Given the description of an element on the screen output the (x, y) to click on. 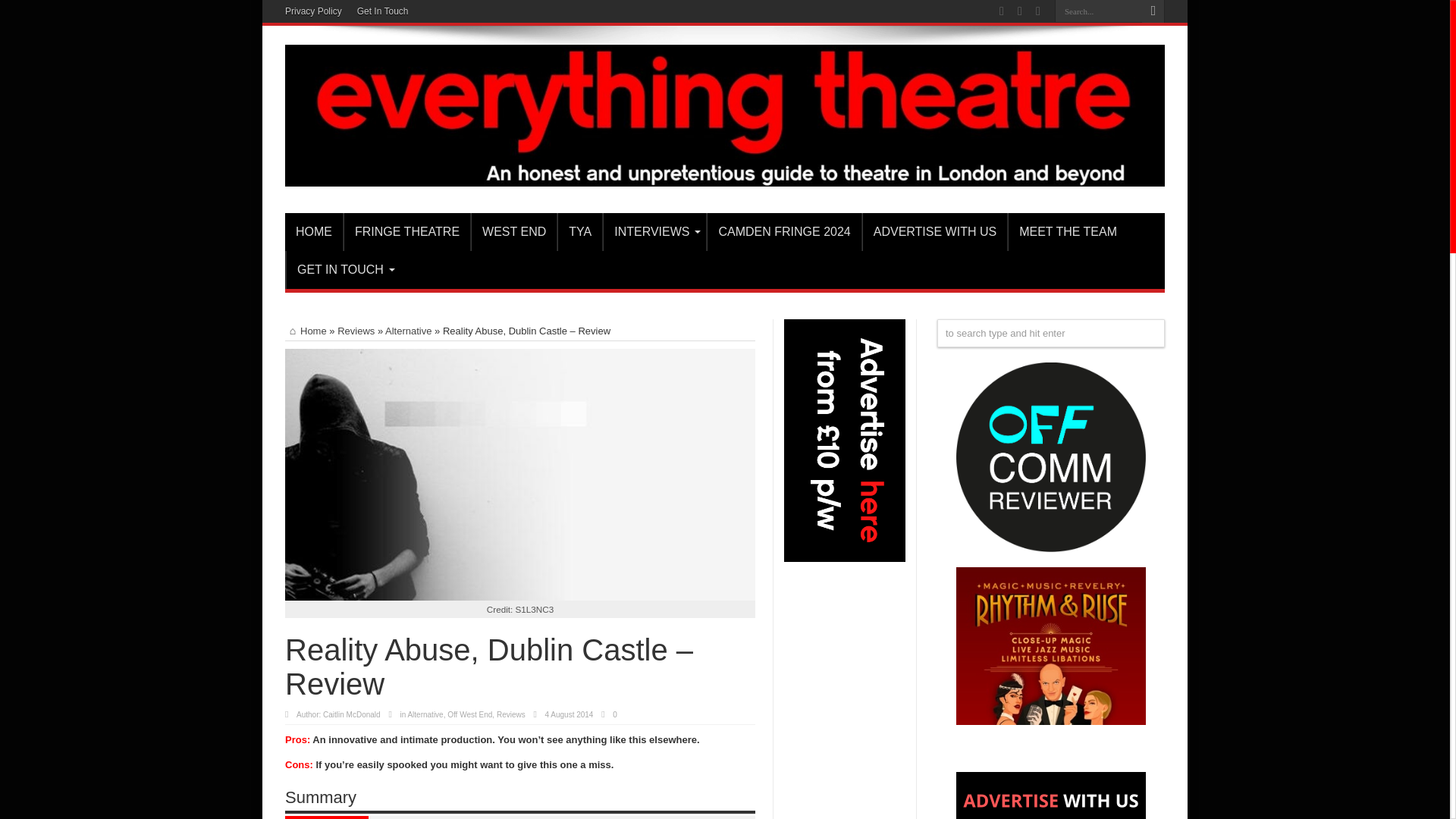
Get In Touch (382, 11)
Alternative (407, 330)
Reviews (355, 330)
INTERVIEWS (654, 231)
GET IN TOUCH (342, 269)
Off West End (469, 714)
TYA (579, 231)
Home (305, 330)
CAMDEN FRINGE 2024 (783, 231)
ADVERTISE WITH US (934, 231)
Search... (1097, 11)
Search (1152, 11)
Privacy Policy (313, 11)
MEET THE TEAM (1066, 231)
to search type and hit enter (1050, 333)
